Given the description of an element on the screen output the (x, y) to click on. 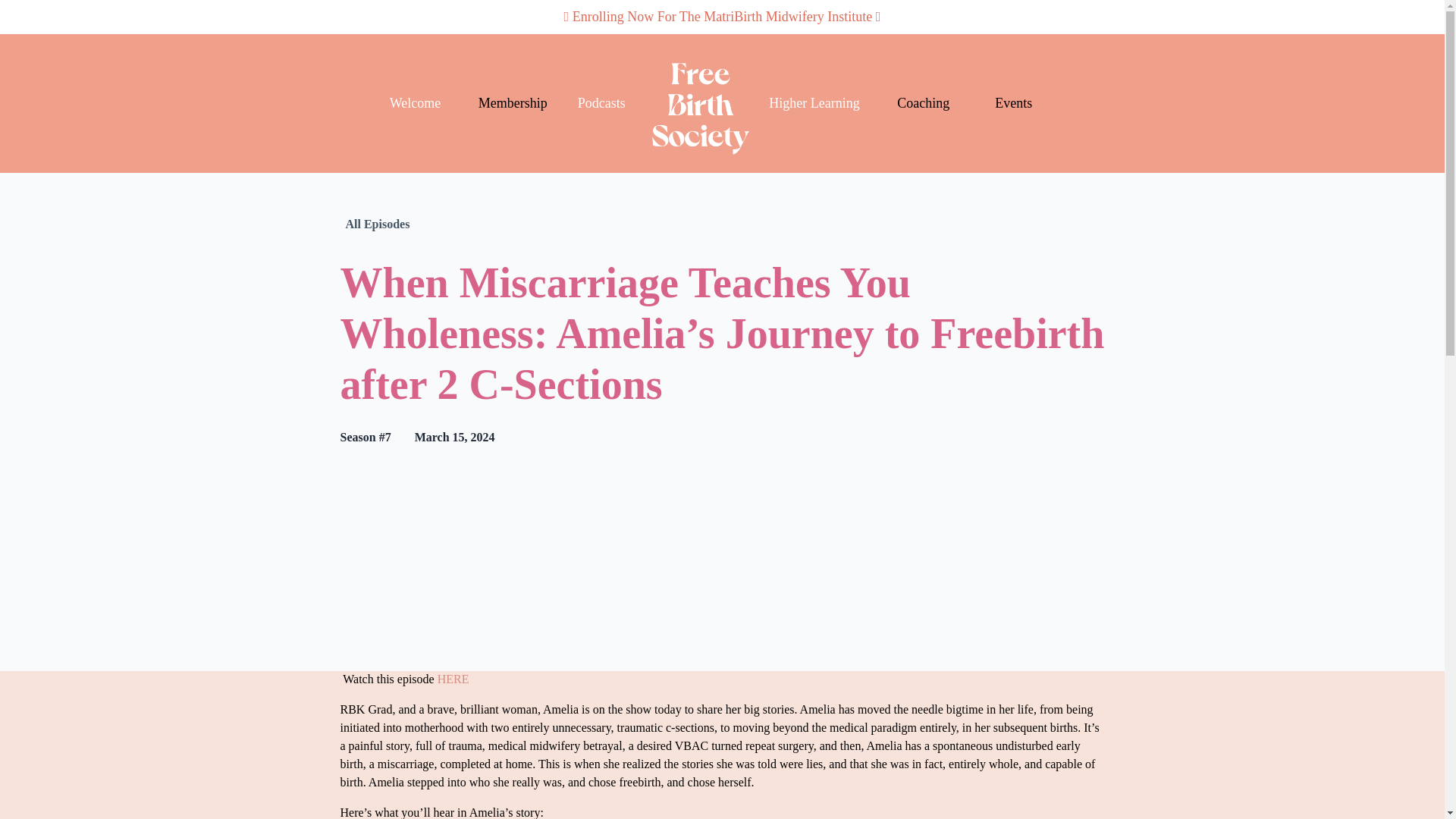
Events (1013, 103)
Membership (513, 103)
March 15, 2024 at 6:00pm  (454, 436)
Higher Learning (817, 103)
Coaching (922, 103)
Podcasts (605, 103)
HERE (453, 678)
Welcome (419, 103)
All Episodes (378, 224)
